Given the description of an element on the screen output the (x, y) to click on. 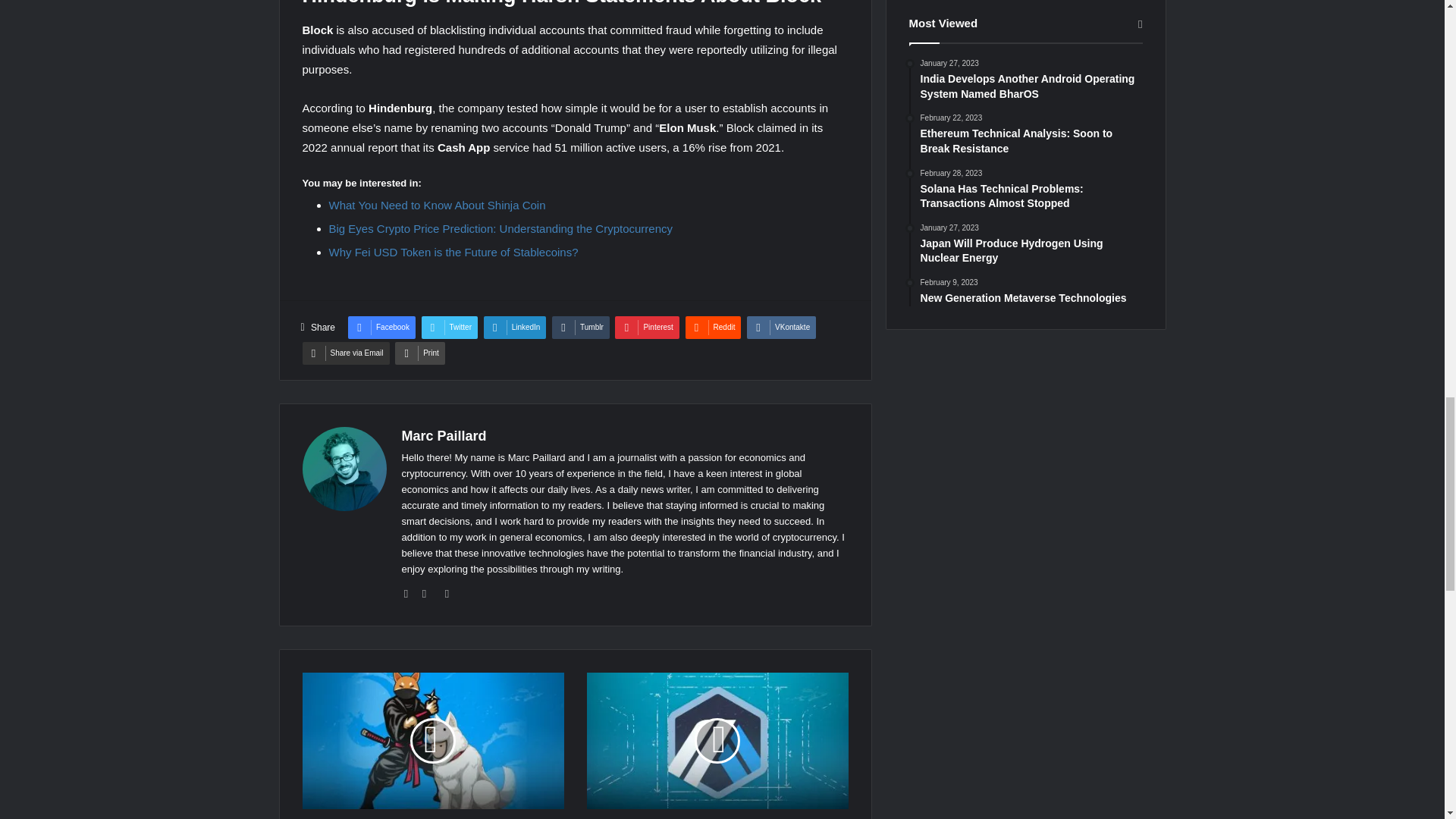
What You Need to Know About Shinja Coin (437, 205)
Facebook (380, 327)
LinkedIn (515, 327)
Why Fei USD Token is the Future of Stablecoins? (453, 251)
Twitter (449, 327)
Tumblr (580, 327)
What You Need to Know About Shinja Coin (437, 205)
